Given the description of an element on the screen output the (x, y) to click on. 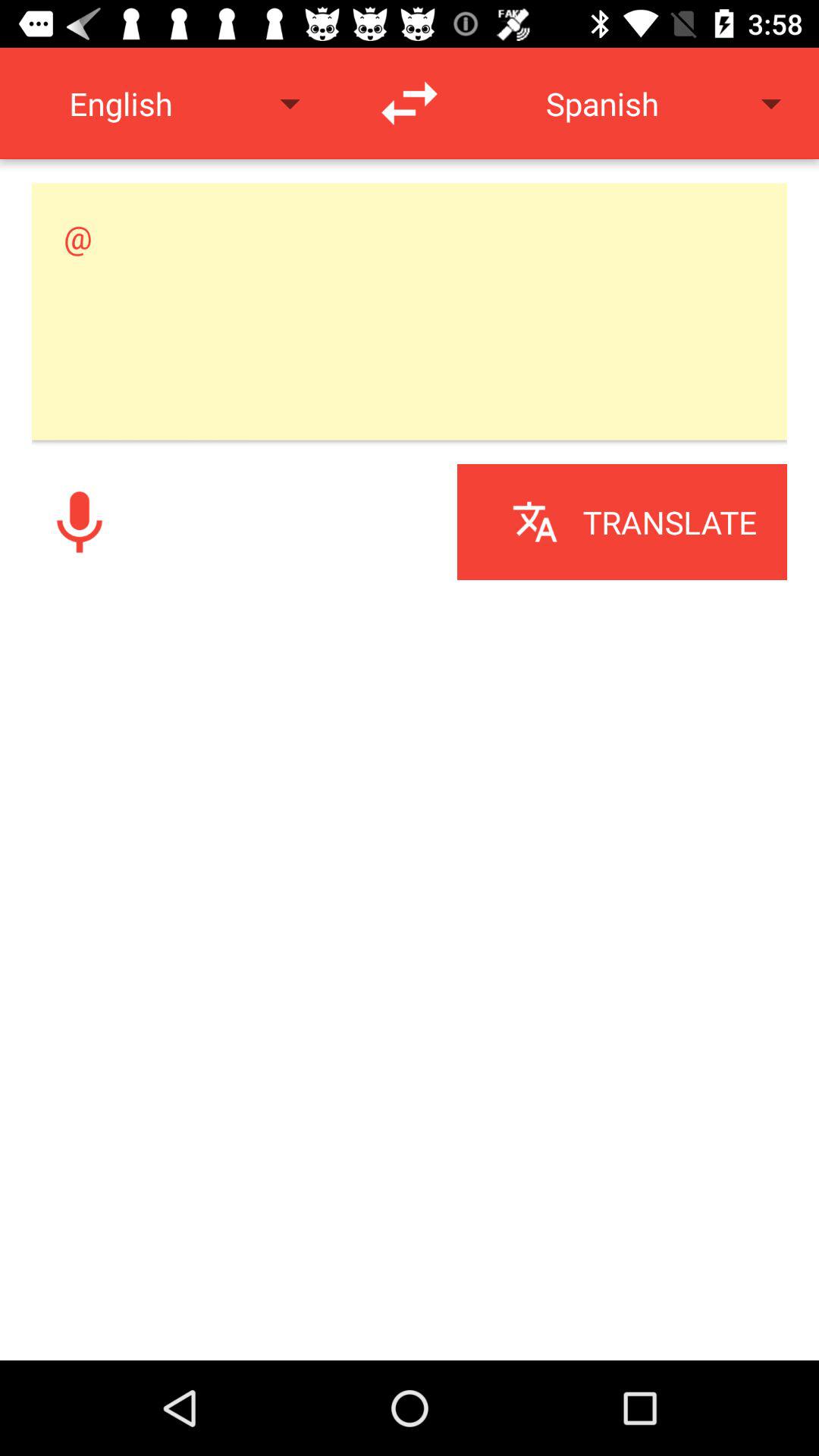
record audio (79, 521)
